Given the description of an element on the screen output the (x, y) to click on. 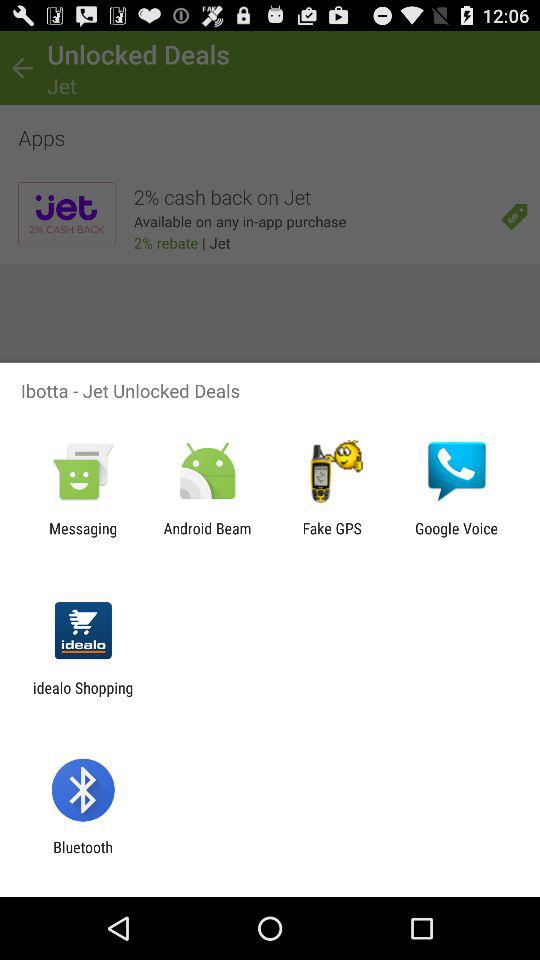
launch fake gps app (331, 537)
